Given the description of an element on the screen output the (x, y) to click on. 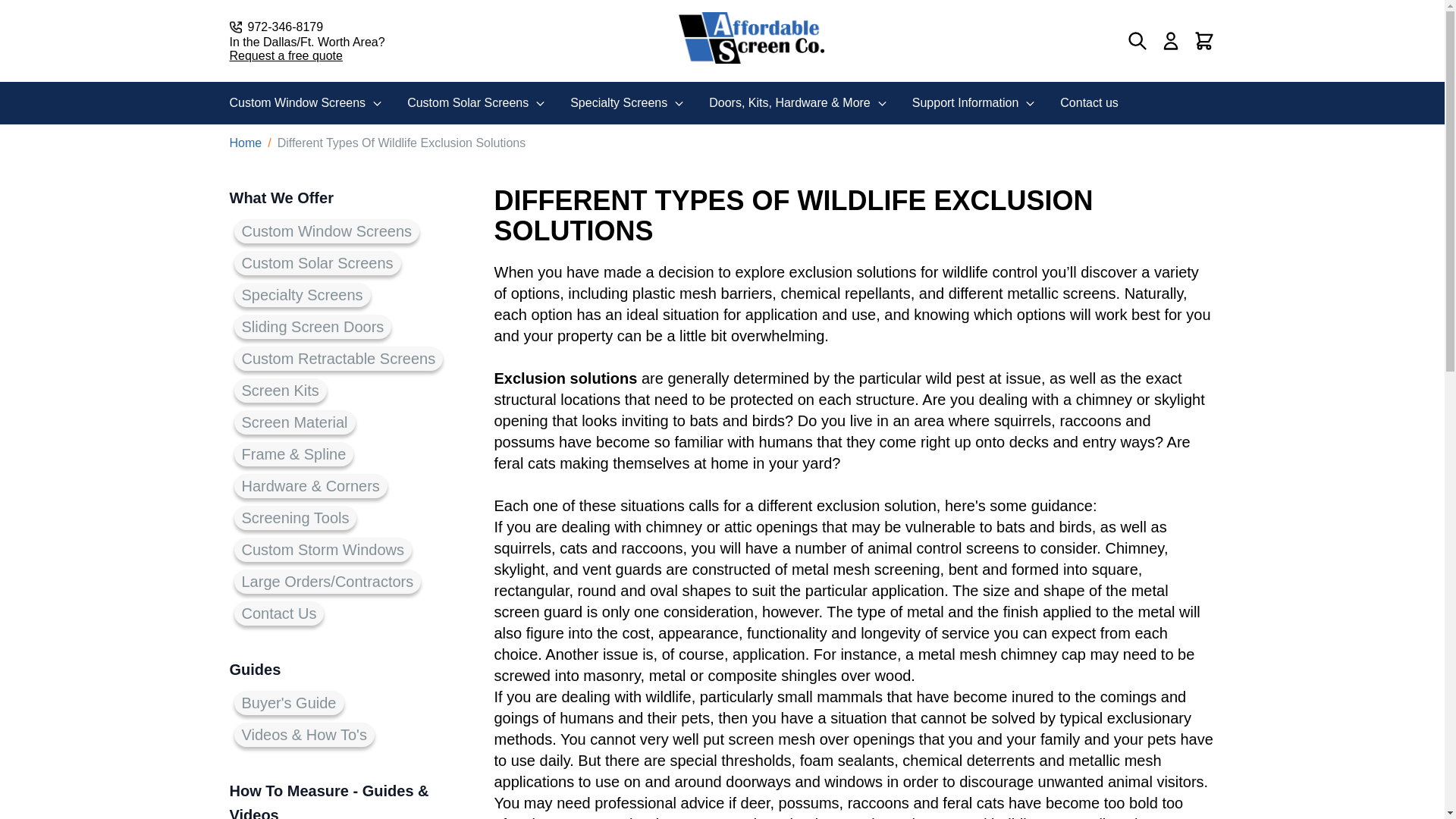
Cart (1203, 40)
Affordable Window Screens (751, 37)
Custom Solar Screens (475, 102)
Request a free quote (306, 55)
Go to Home Page (245, 143)
972-346-8179 (306, 27)
Custom Window Screens (305, 102)
Search (1137, 40)
